Given the description of an element on the screen output the (x, y) to click on. 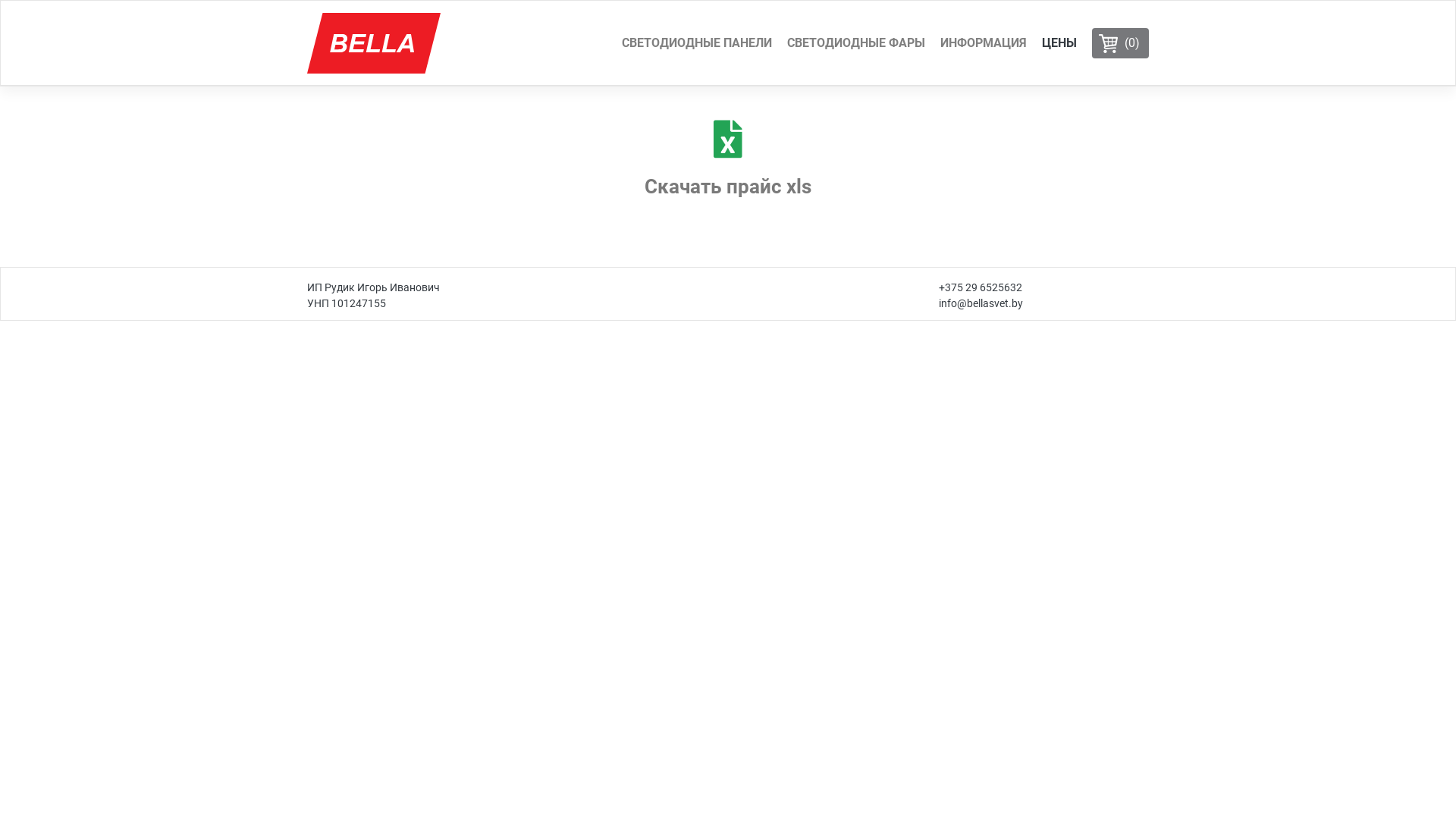
(0) Element type: text (1120, 43)
